Given the description of an element on the screen output the (x, y) to click on. 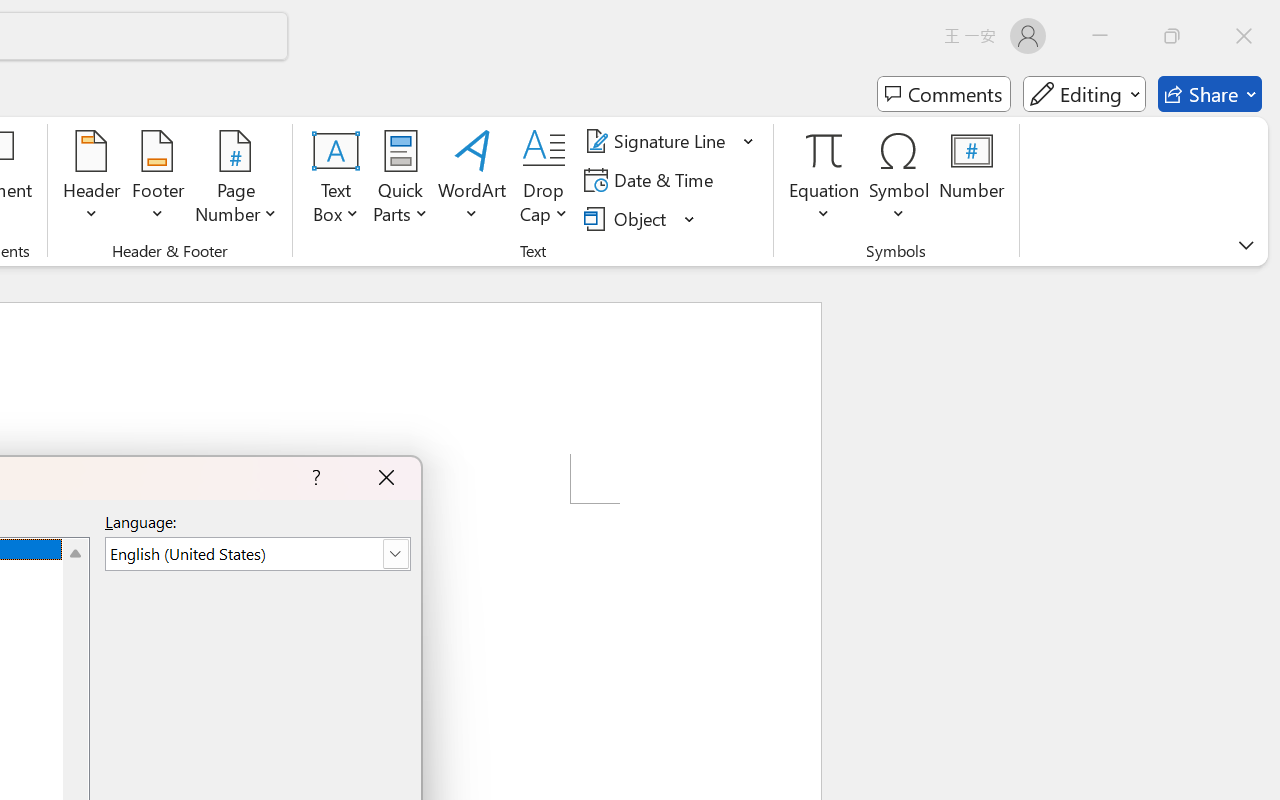
Quick Parts (400, 179)
Footer (157, 179)
Signature Line (658, 141)
Number... (971, 179)
More Options (823, 206)
WordArt (472, 179)
Symbol (899, 179)
Minimize (1099, 36)
Page Number (236, 179)
Equation (823, 150)
Close (1244, 36)
Comments (943, 94)
